Given the description of an element on the screen output the (x, y) to click on. 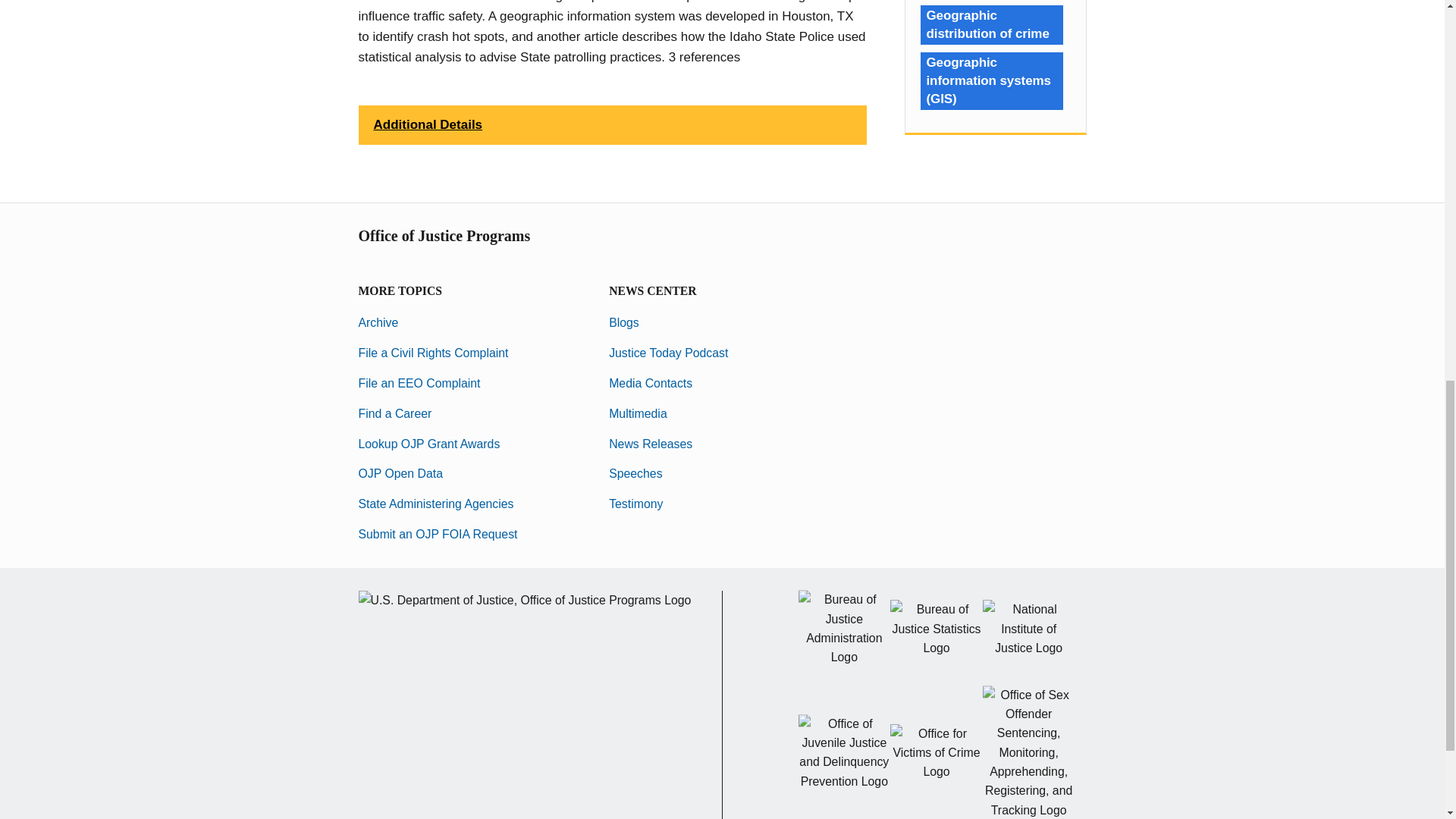
Additional Details (612, 124)
Geographic distribution of crime (991, 24)
Find a Career (394, 413)
File an EEO Complaint (419, 382)
Archive (377, 322)
File a Civil Rights Complaint (433, 352)
